Given the description of an element on the screen output the (x, y) to click on. 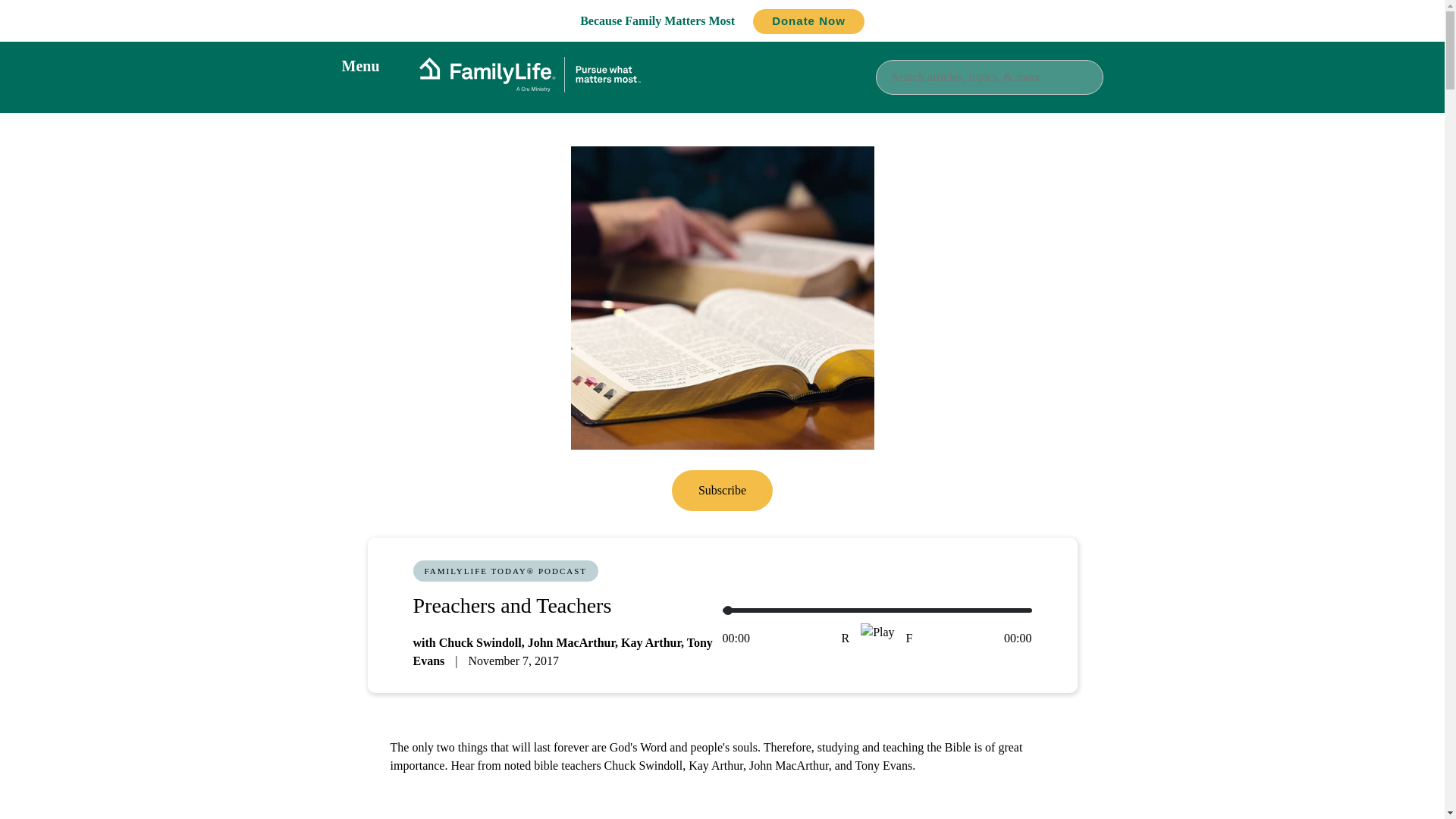
Subscribe (722, 490)
Donate Now (808, 21)
0 (876, 610)
Search for: (988, 76)
Because Family Matters Most Donate Now (721, 20)
